Given the description of an element on the screen output the (x, y) to click on. 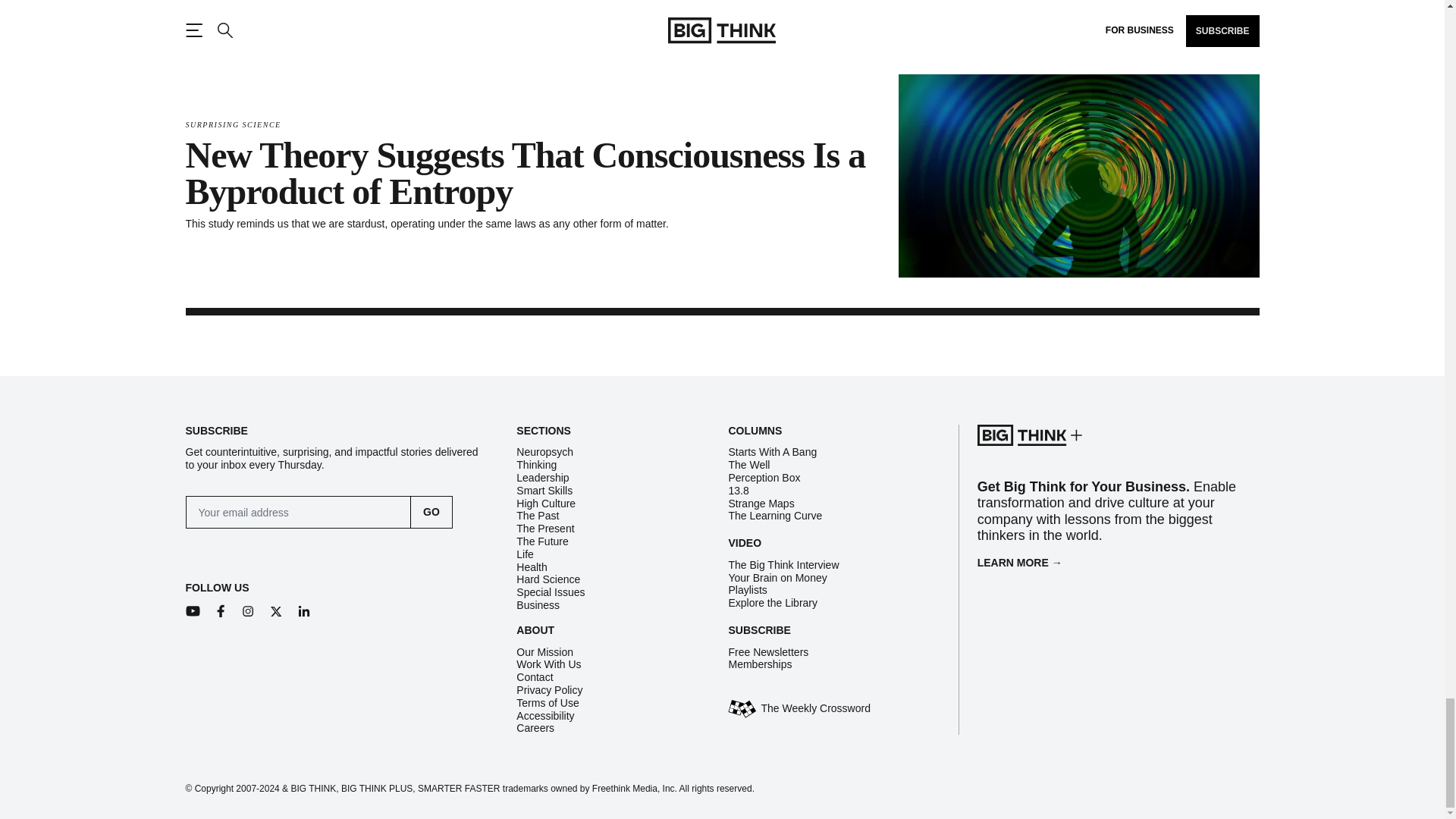
Go (431, 512)
